Given the description of an element on the screen output the (x, y) to click on. 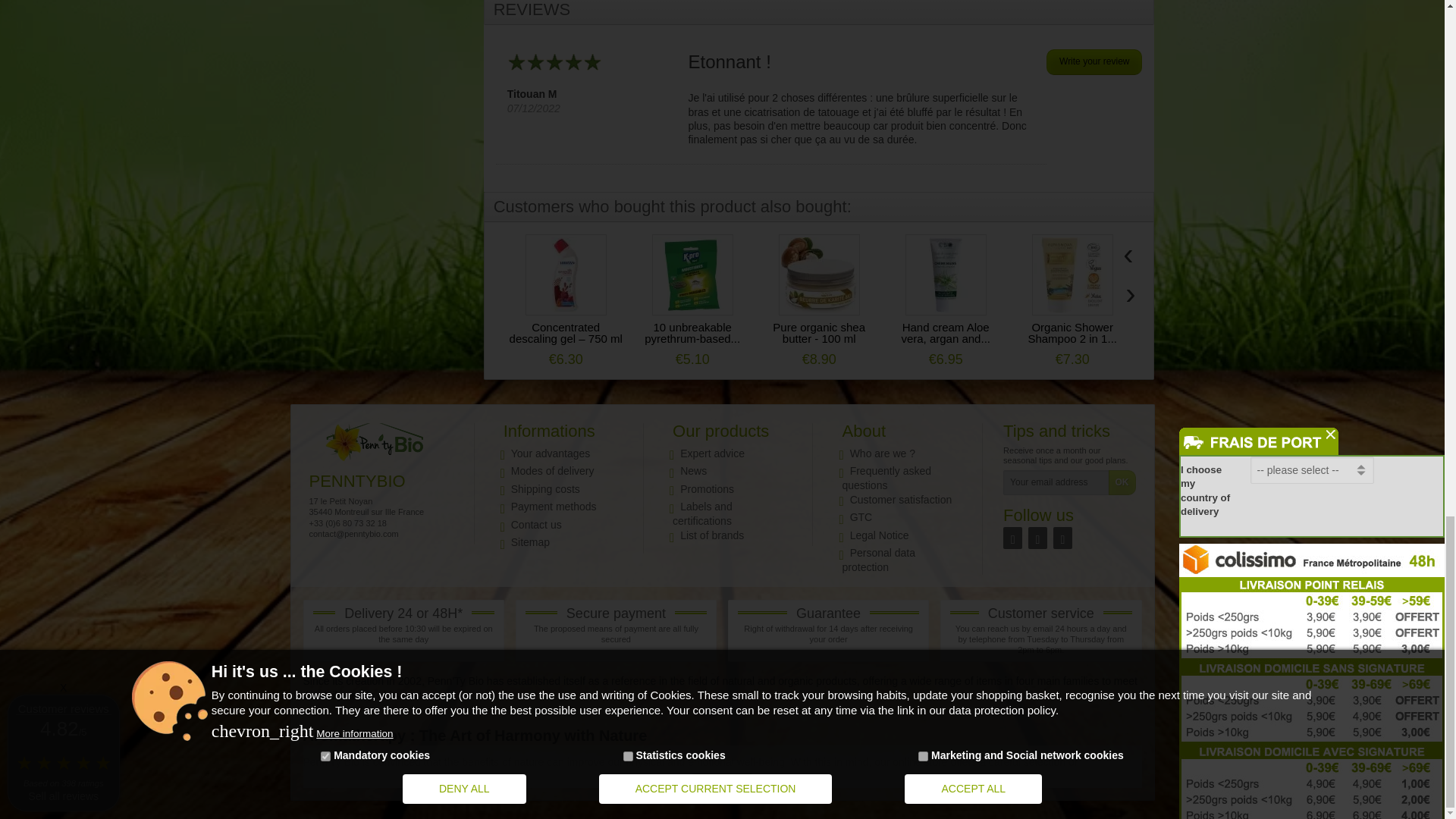
OK (1121, 483)
